Given the description of an element on the screen output the (x, y) to click on. 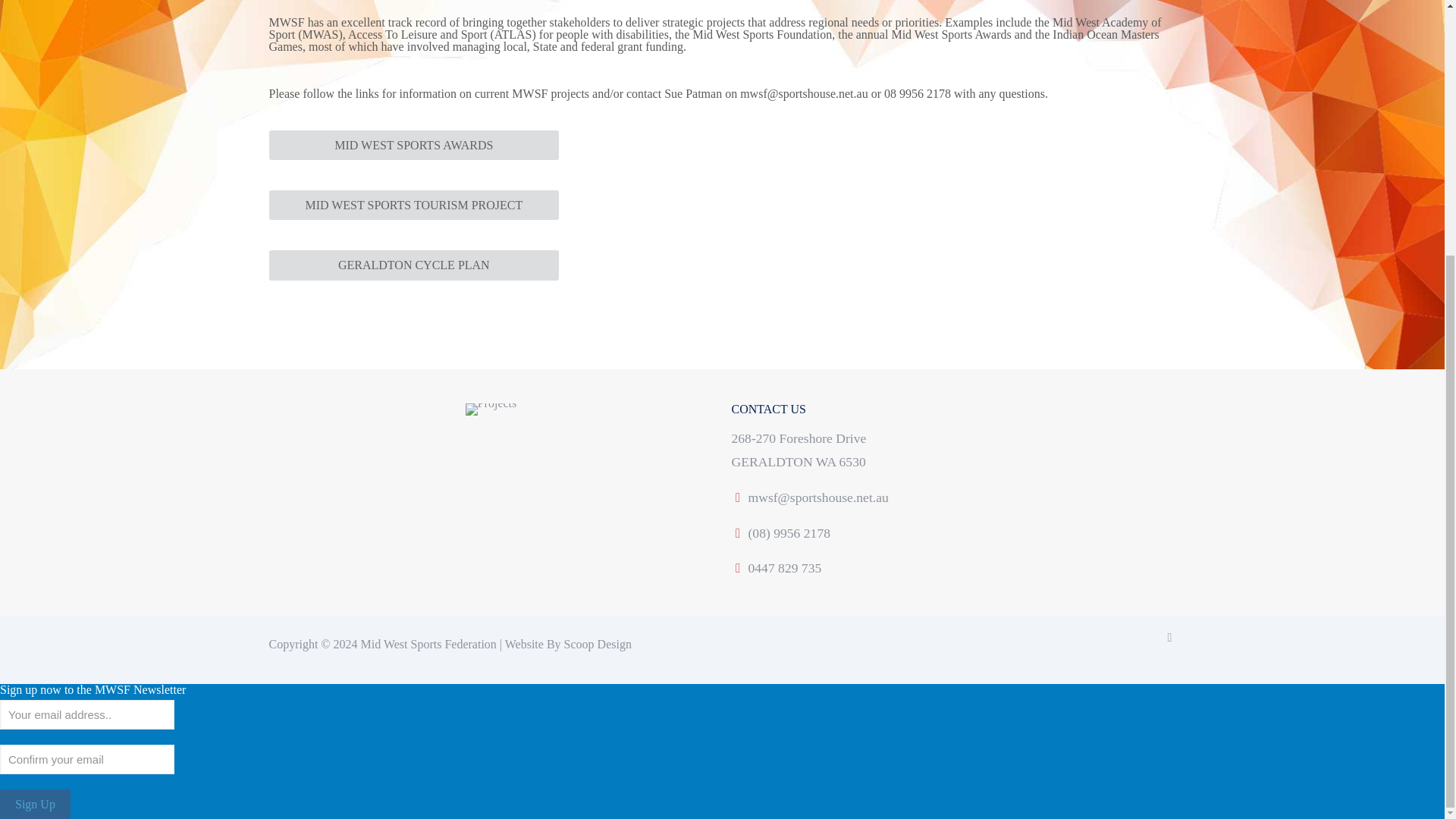
MID WEST SPORTS AWARDS (413, 144)
Instagram (1142, 644)
Scoop Design (597, 644)
GERALDTON CYCLE PLAN (413, 265)
Facebook (1110, 644)
MID WEST SPORTS TOURISM PROJECT (413, 205)
